Given the description of an element on the screen output the (x, y) to click on. 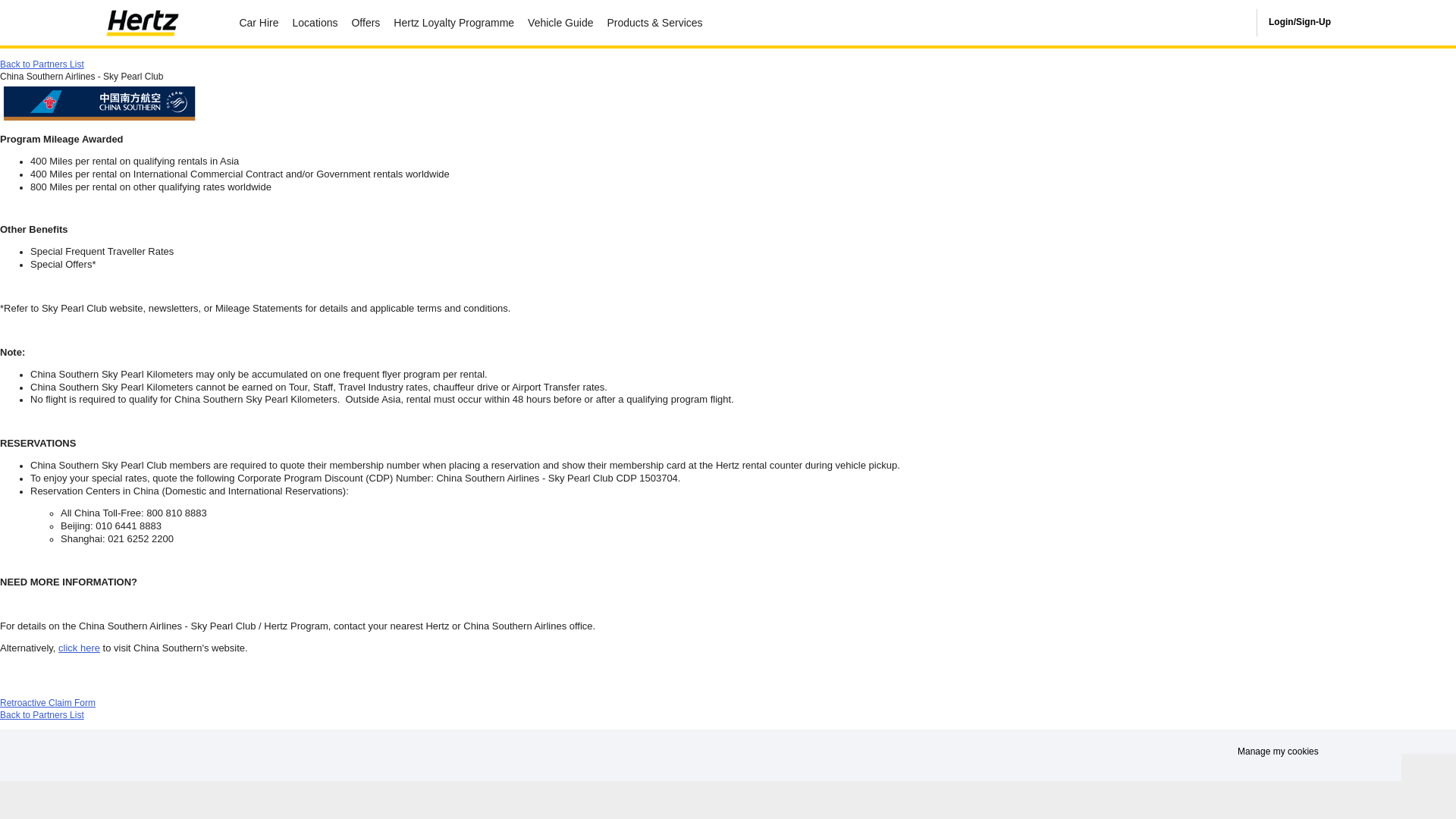
Back to Partners List (42, 715)
Locations (315, 22)
Back to Partners List (42, 63)
Manage my cookies (700, 762)
click here (79, 647)
Vehicle Guide (560, 22)
click here (79, 647)
Retroactive Claim Form (48, 702)
Offers (365, 22)
